Given the description of an element on the screen output the (x, y) to click on. 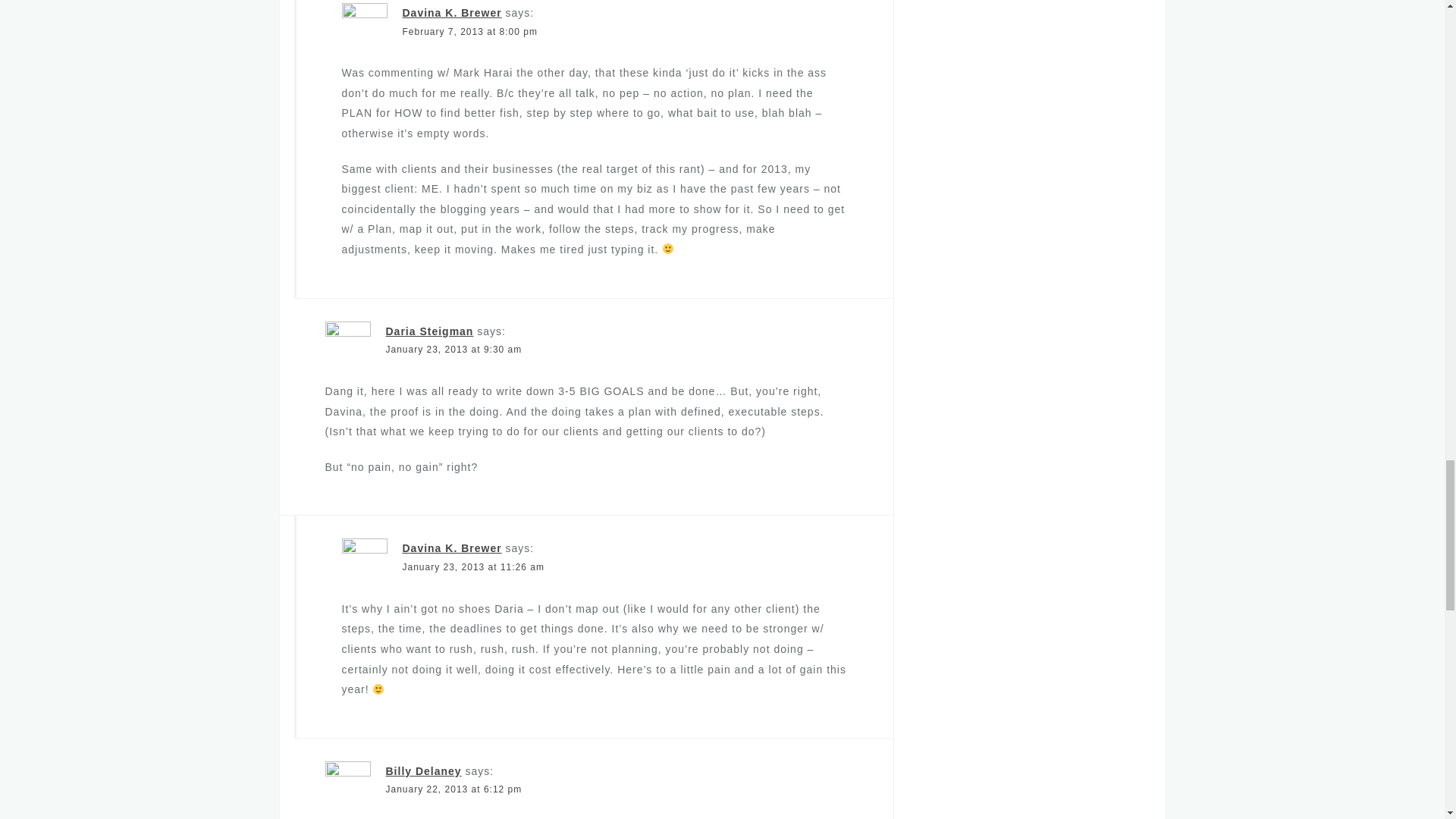
January 23, 2013 at 11:26 am (472, 566)
Billy Delaney (423, 770)
Davina K. Brewer (450, 12)
Daria Steigman (429, 331)
January 22, 2013 at 6:12 pm (453, 788)
Davina K. Brewer (450, 548)
January 23, 2013 at 9:30 am (453, 348)
February 7, 2013 at 8:00 pm (469, 30)
